Given the description of an element on the screen output the (x, y) to click on. 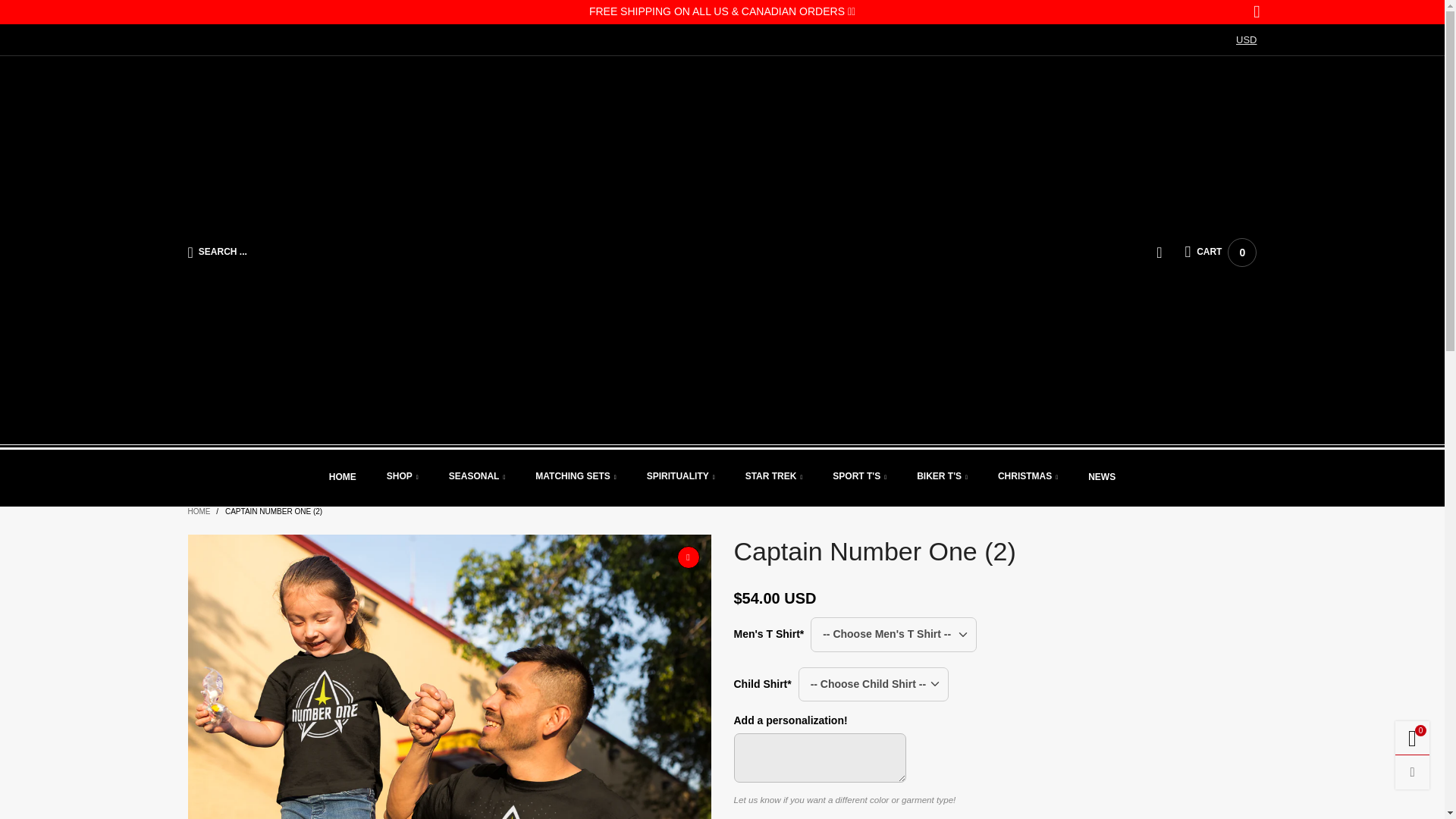
HOME (342, 477)
Currency (1245, 40)
MATCHING SETS (1220, 252)
Cart (575, 477)
close promotion (1220, 252)
SEARCH ... (1256, 12)
Seasonal (358, 252)
SPIRITUALITY (476, 477)
SEASONAL (680, 477)
